Given the description of an element on the screen output the (x, y) to click on. 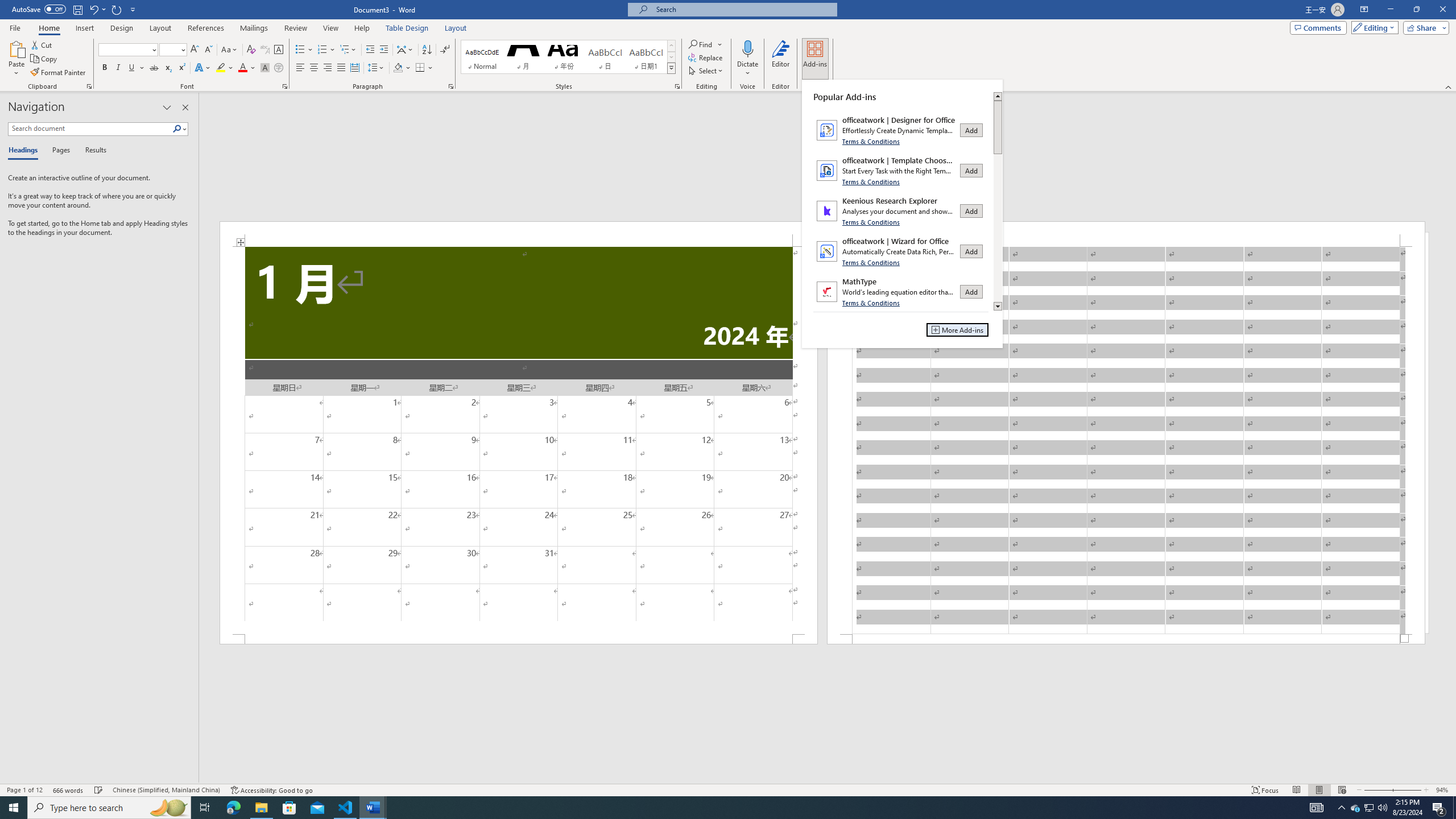
Undo Grow Font (96, 9)
officeatwork | Wizard for Office (900, 251)
